Given the description of an element on the screen output the (x, y) to click on. 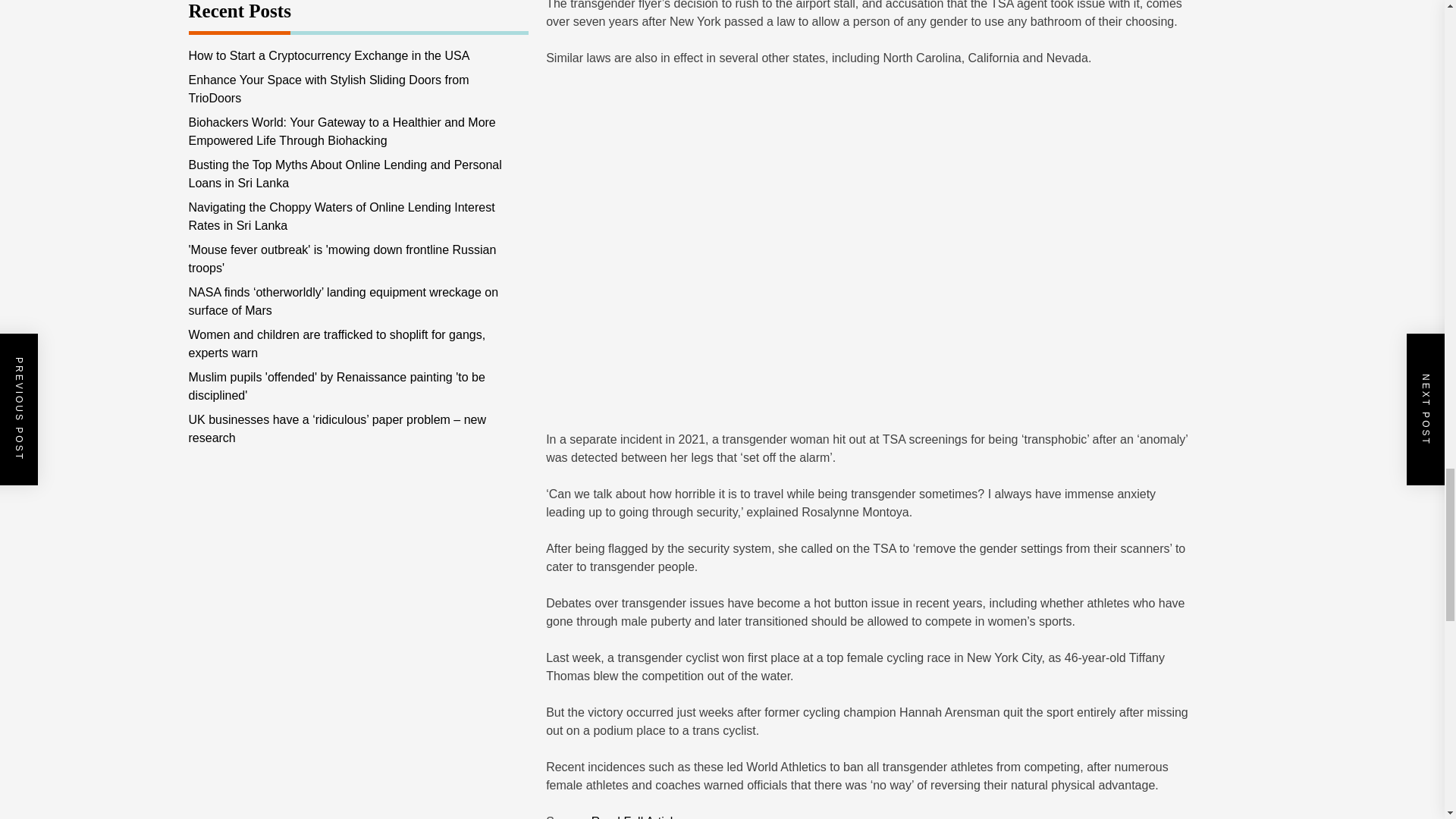
Read Full Article (635, 816)
